Given the description of an element on the screen output the (x, y) to click on. 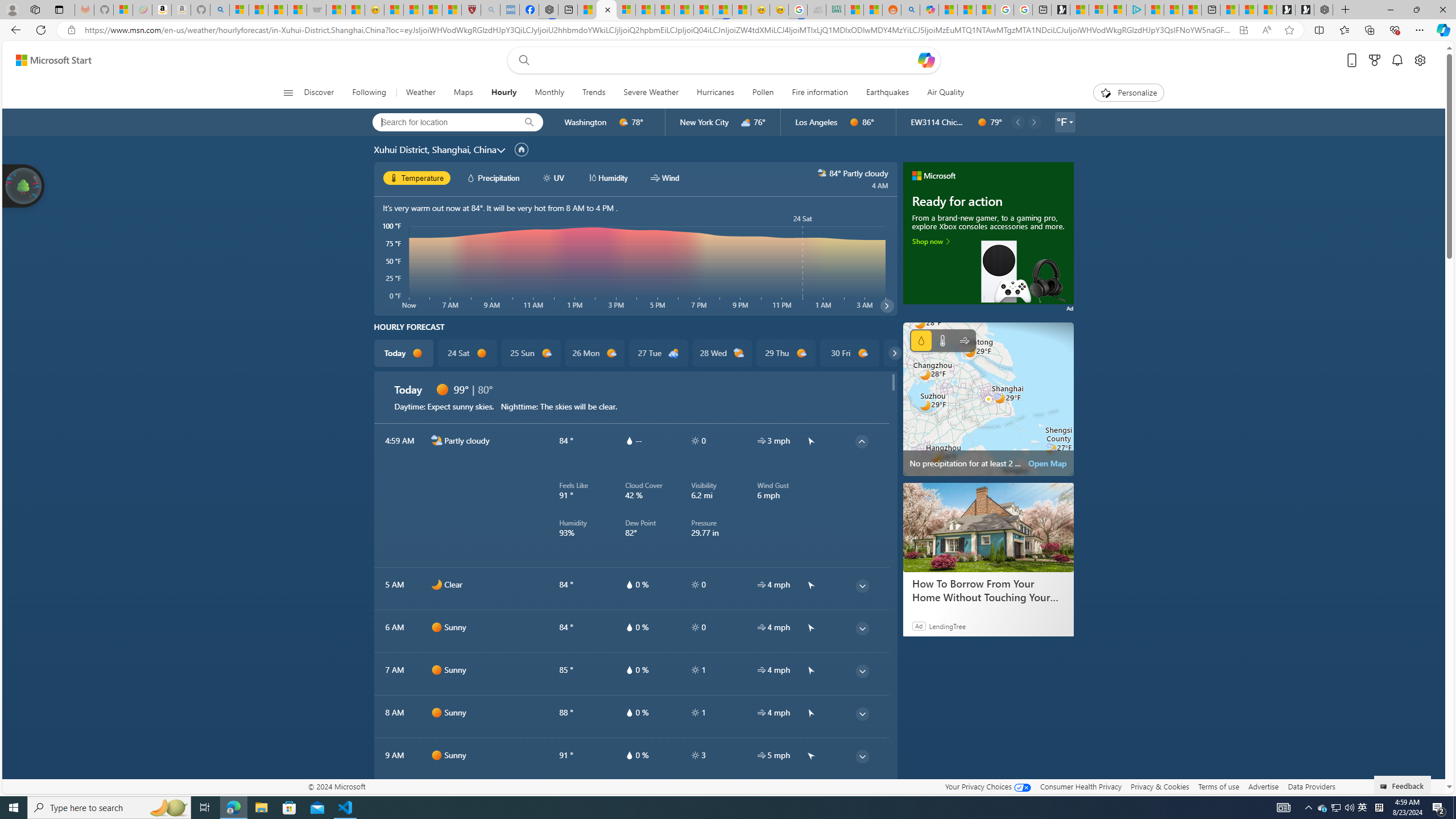
Wind (964, 340)
Fire information (819, 92)
Terms of use (1218, 785)
24 Sat d0000 (466, 352)
Severe Weather (651, 92)
Hourly (503, 92)
hourlyTable/uv (694, 755)
